Given the description of an element on the screen output the (x, y) to click on. 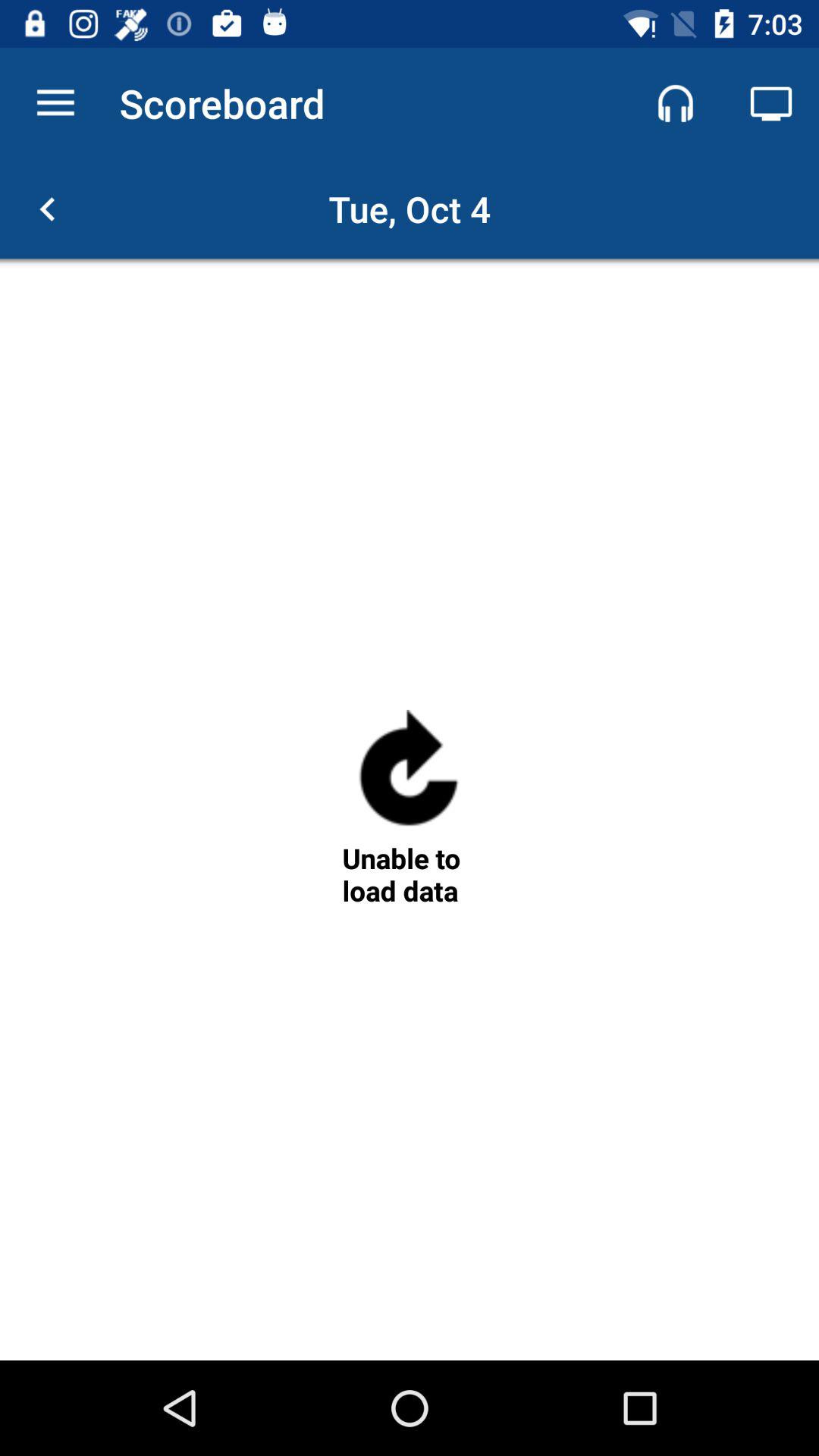
a refresh button (408, 774)
